Given the description of an element on the screen output the (x, y) to click on. 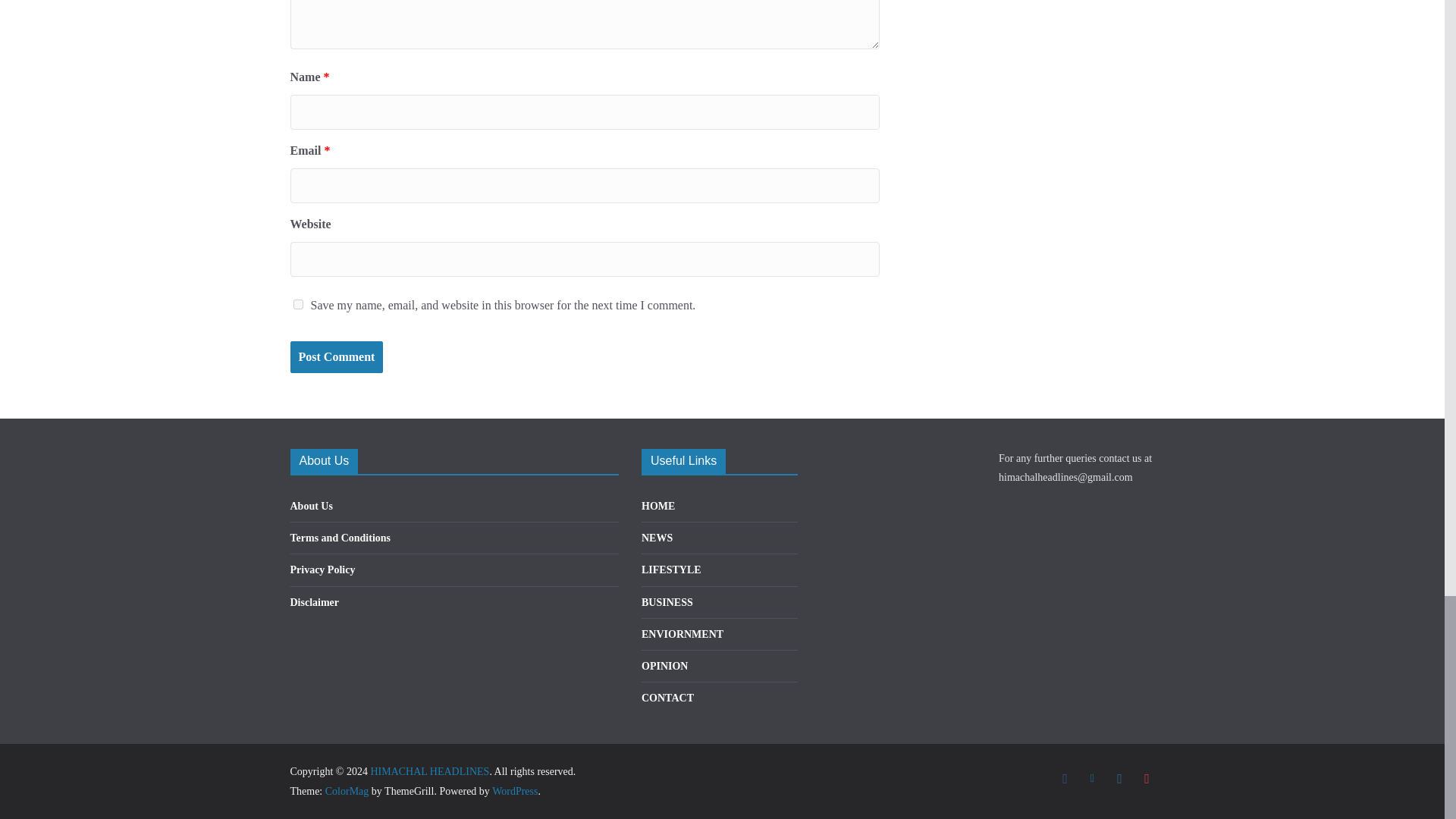
yes (297, 304)
Post Comment (335, 357)
